Given the description of an element on the screen output the (x, y) to click on. 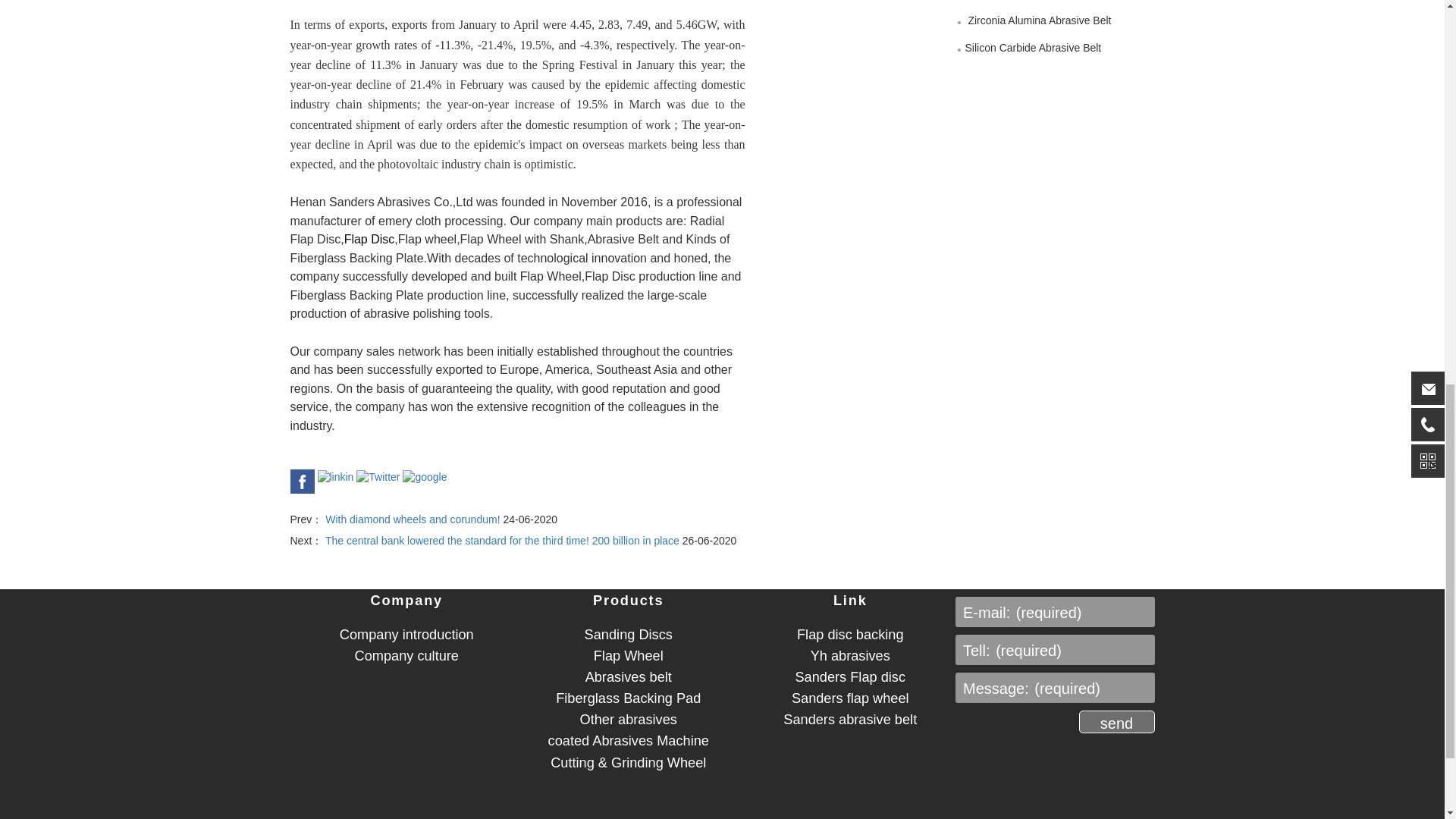
Zirconia Alumina Abrasive Belt (1036, 20)
Flap Disc (368, 238)
With diamond wheels and corundum! (413, 519)
Silicon Carbide Abrasive Belt (1031, 47)
